Given the description of an element on the screen output the (x, y) to click on. 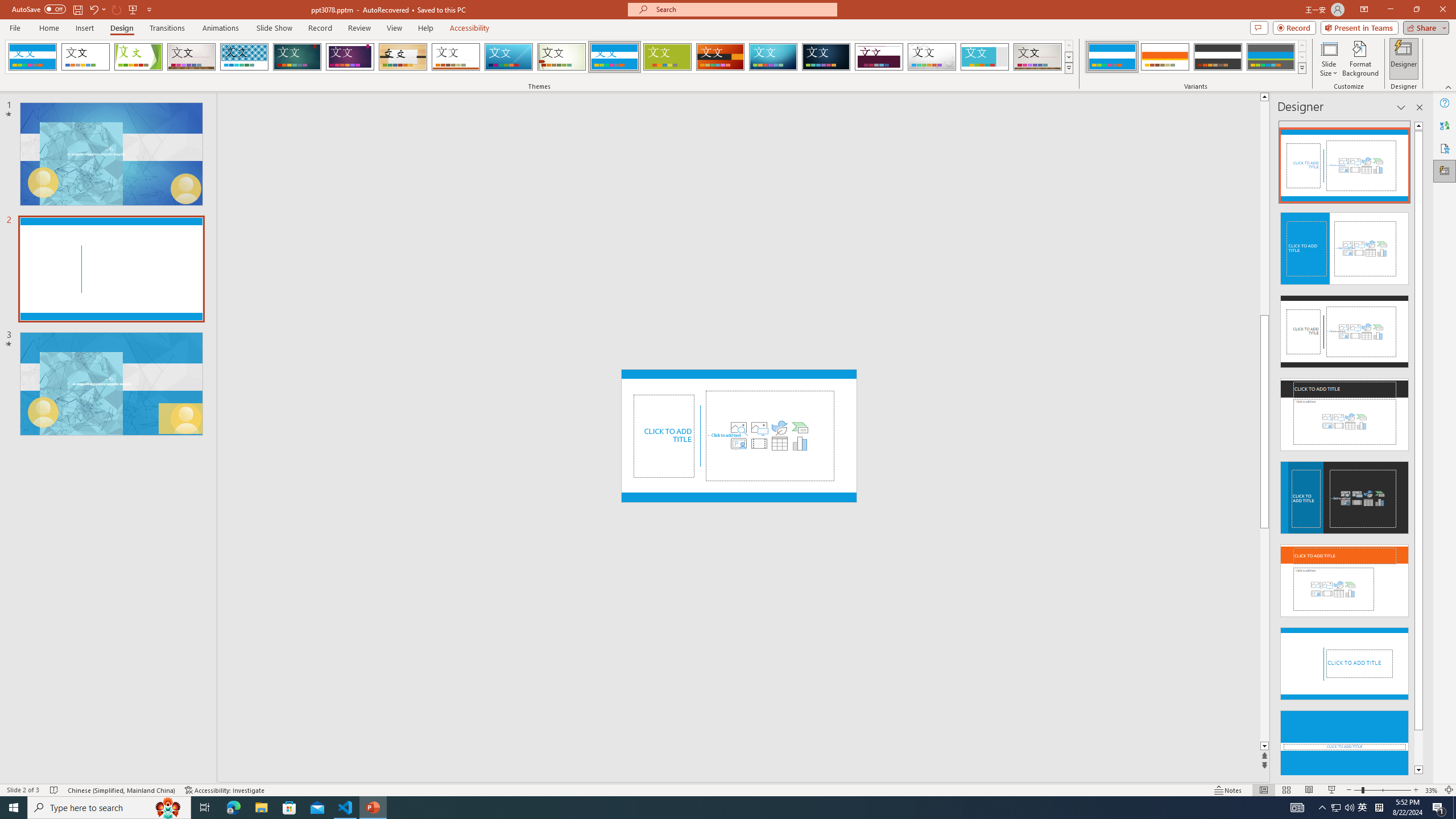
Banded Variant 3 (1217, 56)
AutomationID: ThemeVariantsGallery (1195, 56)
Circuit (772, 56)
Pictures (758, 427)
Organic (403, 56)
Title TextBox (663, 435)
Insert a SmartArt Graphic (799, 427)
